Given the description of an element on the screen output the (x, y) to click on. 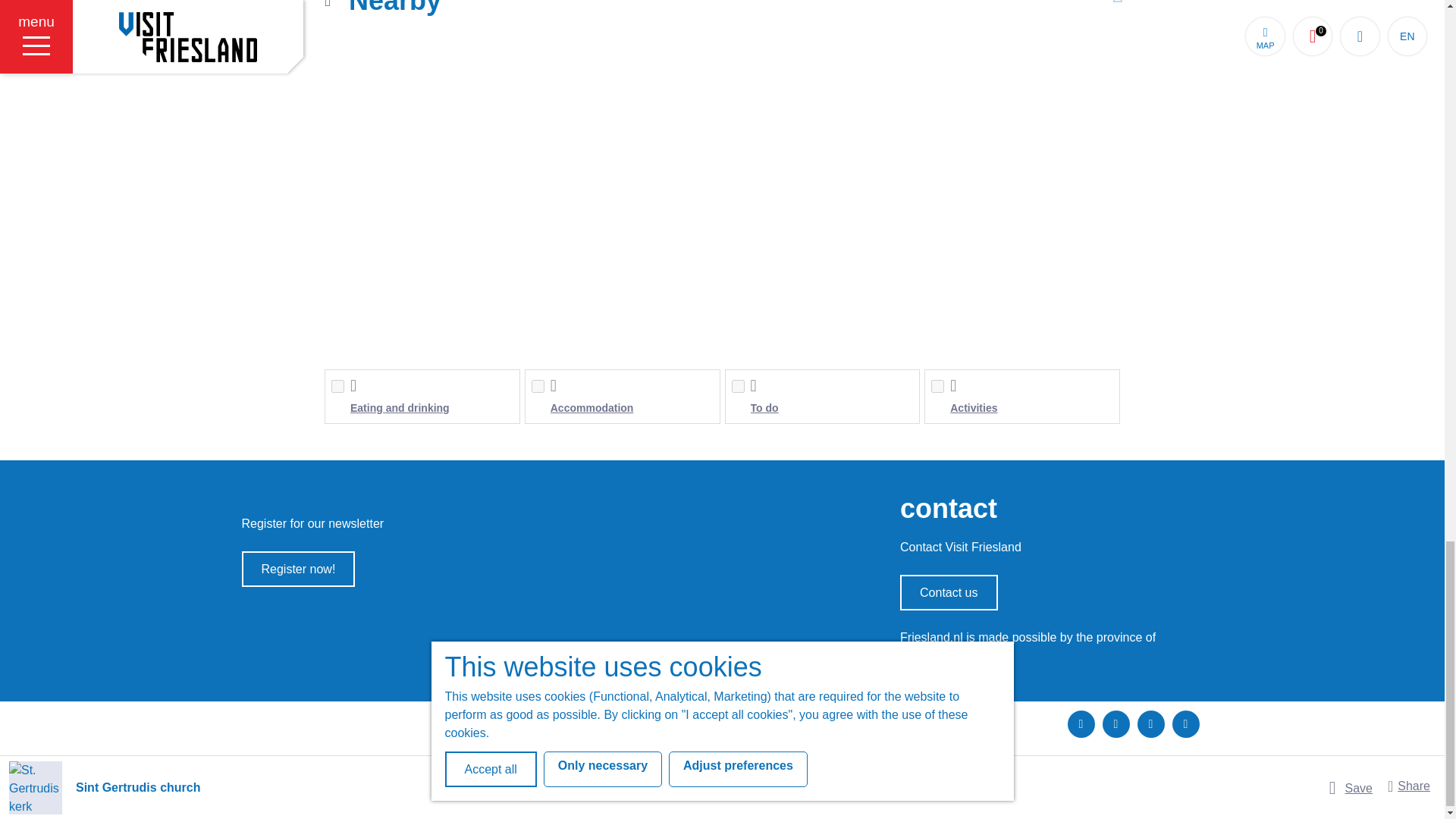
10700,11100,10900,10400,10800 (737, 386)
20100,20200,20400,40300 (937, 386)
